Given the description of an element on the screen output the (x, y) to click on. 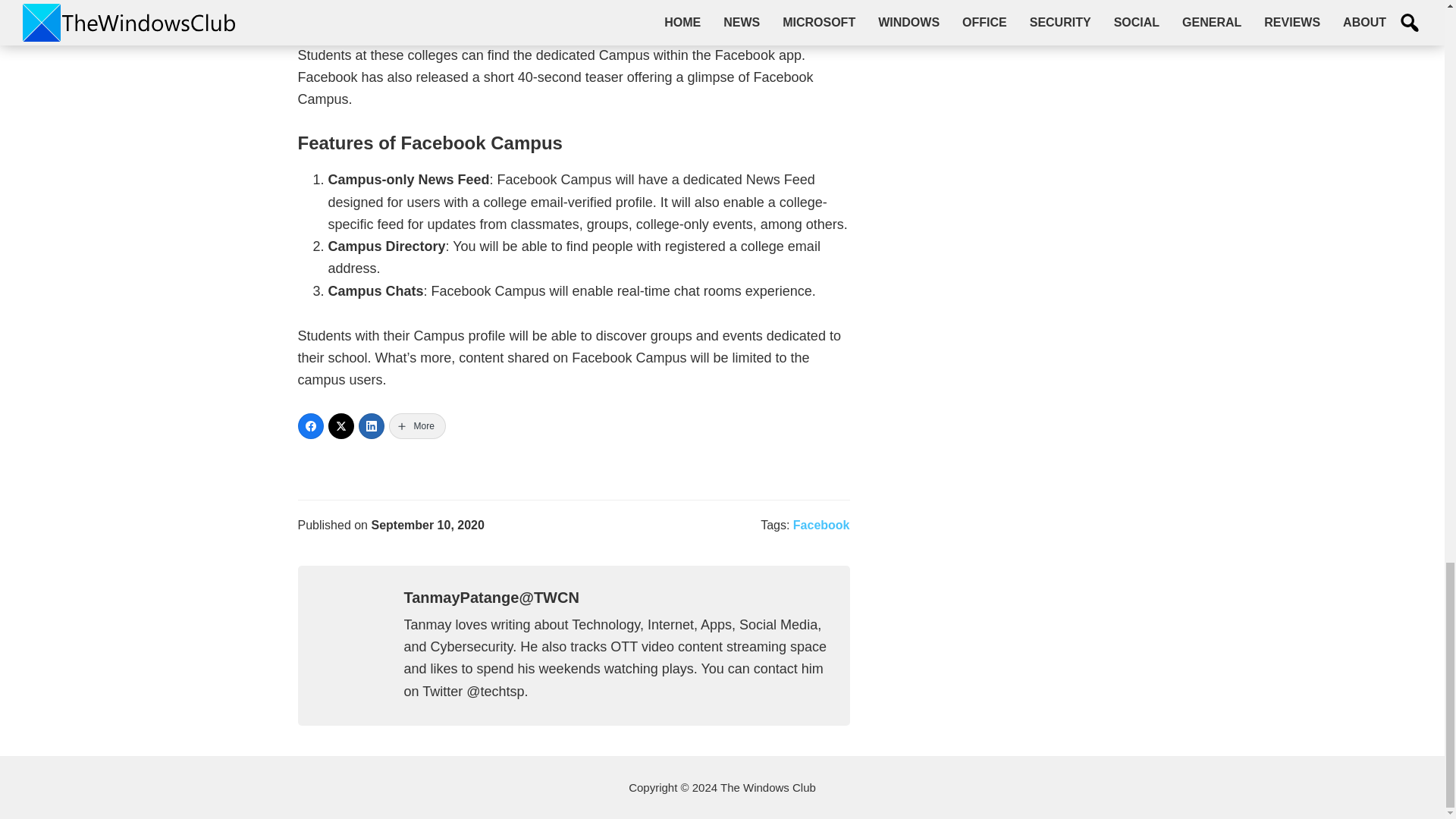
Facebook (821, 524)
More (416, 425)
